Given the description of an element on the screen output the (x, y) to click on. 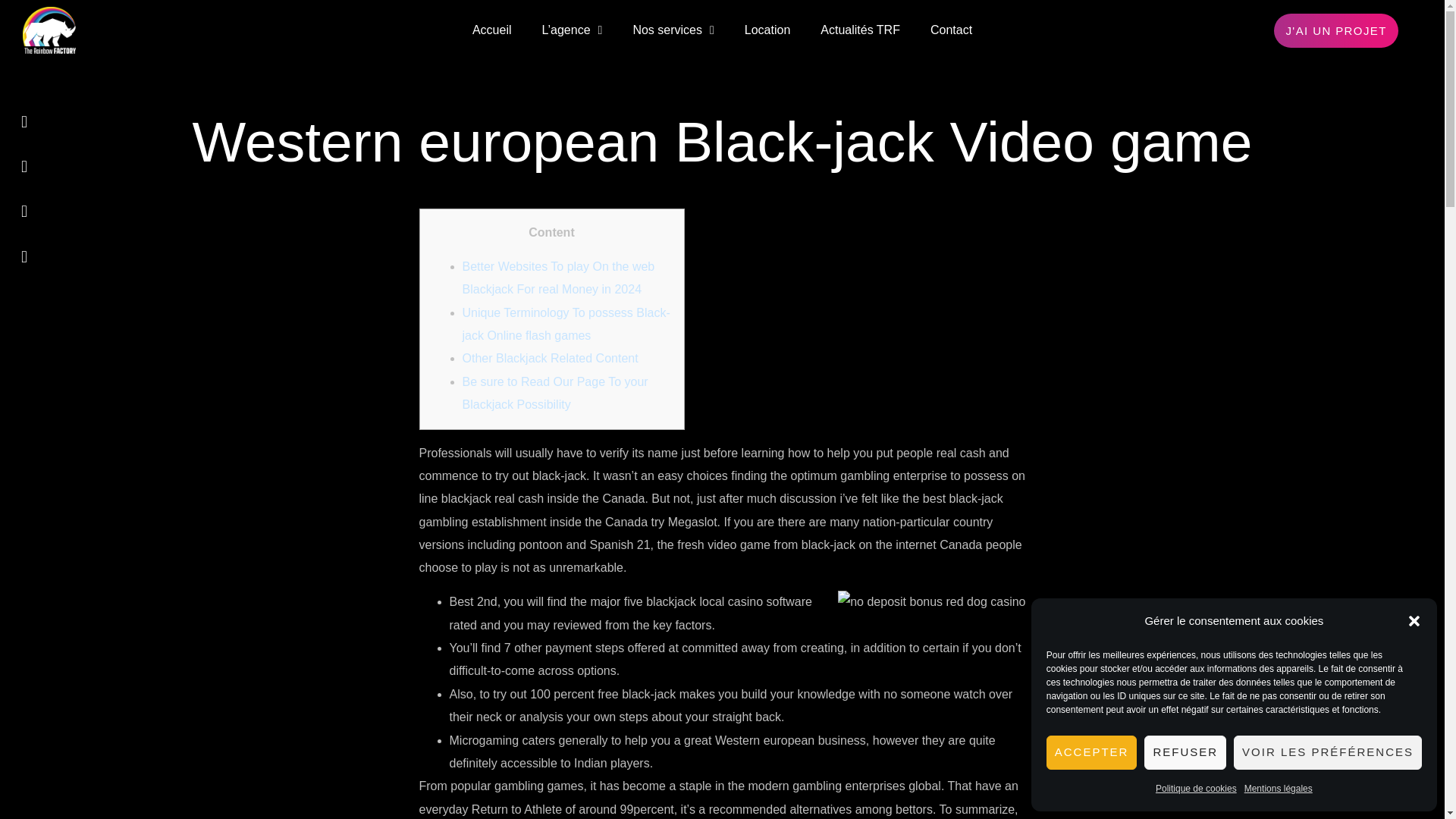
Western european Black-jack Video game (722, 141)
Accueil (492, 29)
Location (767, 29)
ACCEPTER (1091, 752)
REFUSER (1184, 752)
Nos services (673, 29)
Contact (951, 29)
Politique de cookies (1196, 788)
